Given the description of an element on the screen output the (x, y) to click on. 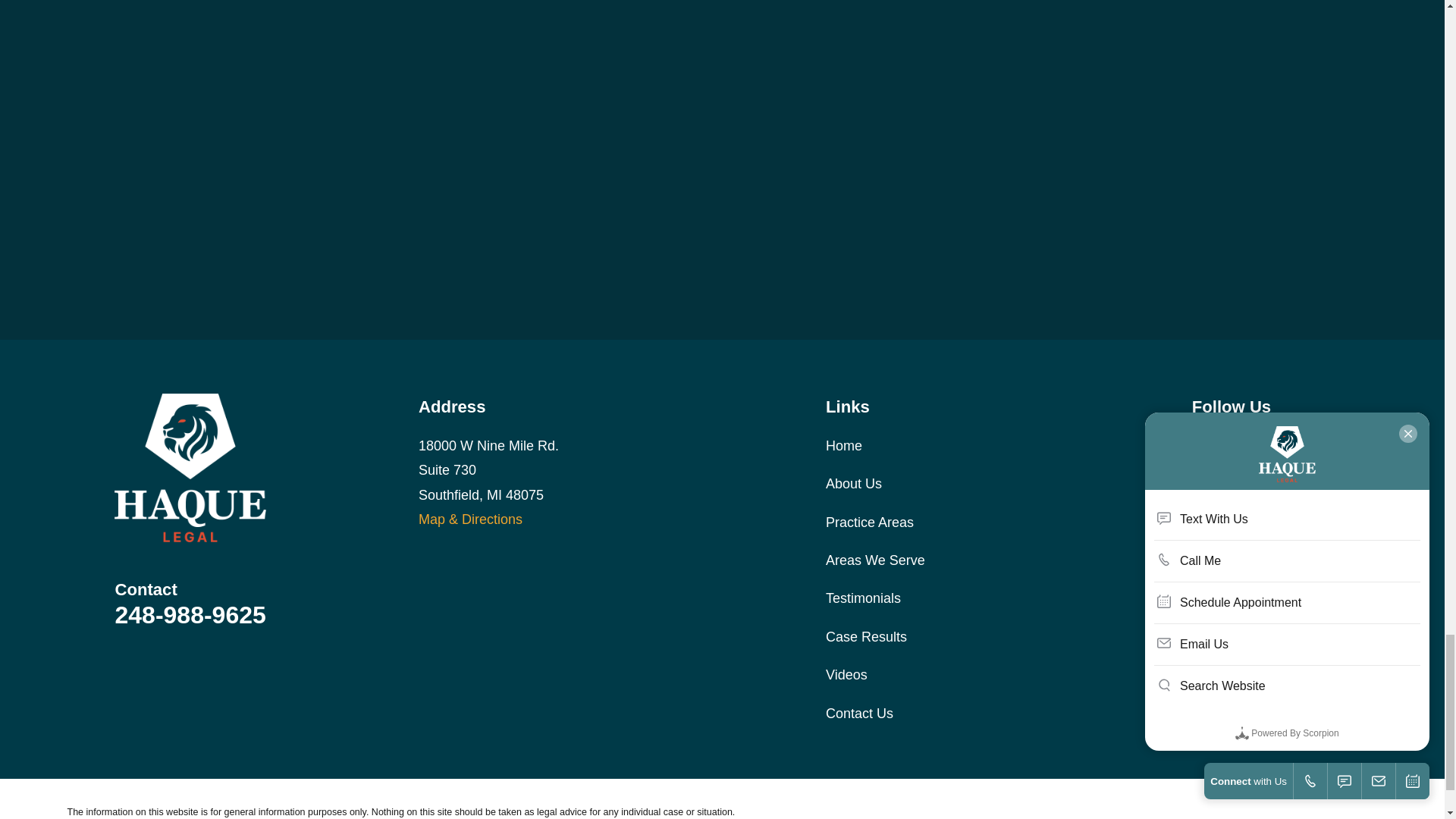
Home (190, 467)
Instagram (1240, 443)
Facebook (1201, 443)
YouTube (1280, 443)
